Given the description of an element on the screen output the (x, y) to click on. 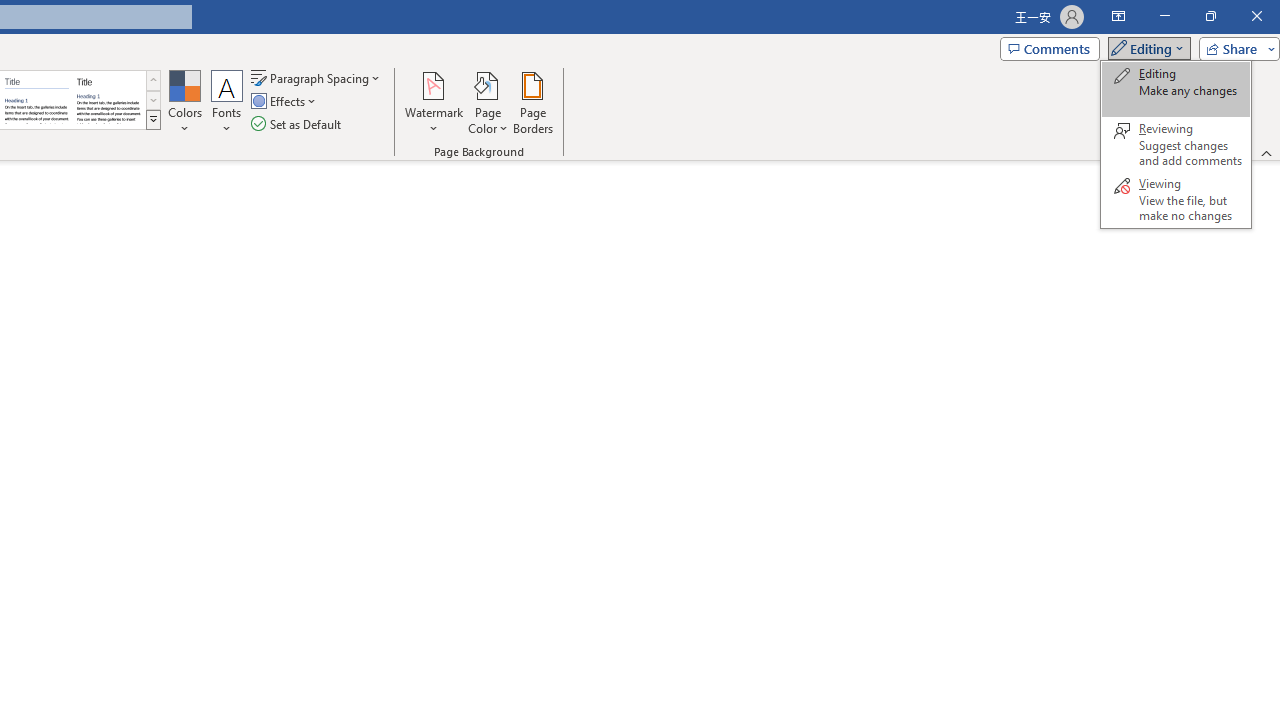
&Editing (1175, 143)
Style Set (153, 120)
Effects (285, 101)
Word 2013 (108, 100)
Watermark (434, 102)
Set as Default (298, 124)
Fonts (227, 102)
